Given the description of an element on the screen output the (x, y) to click on. 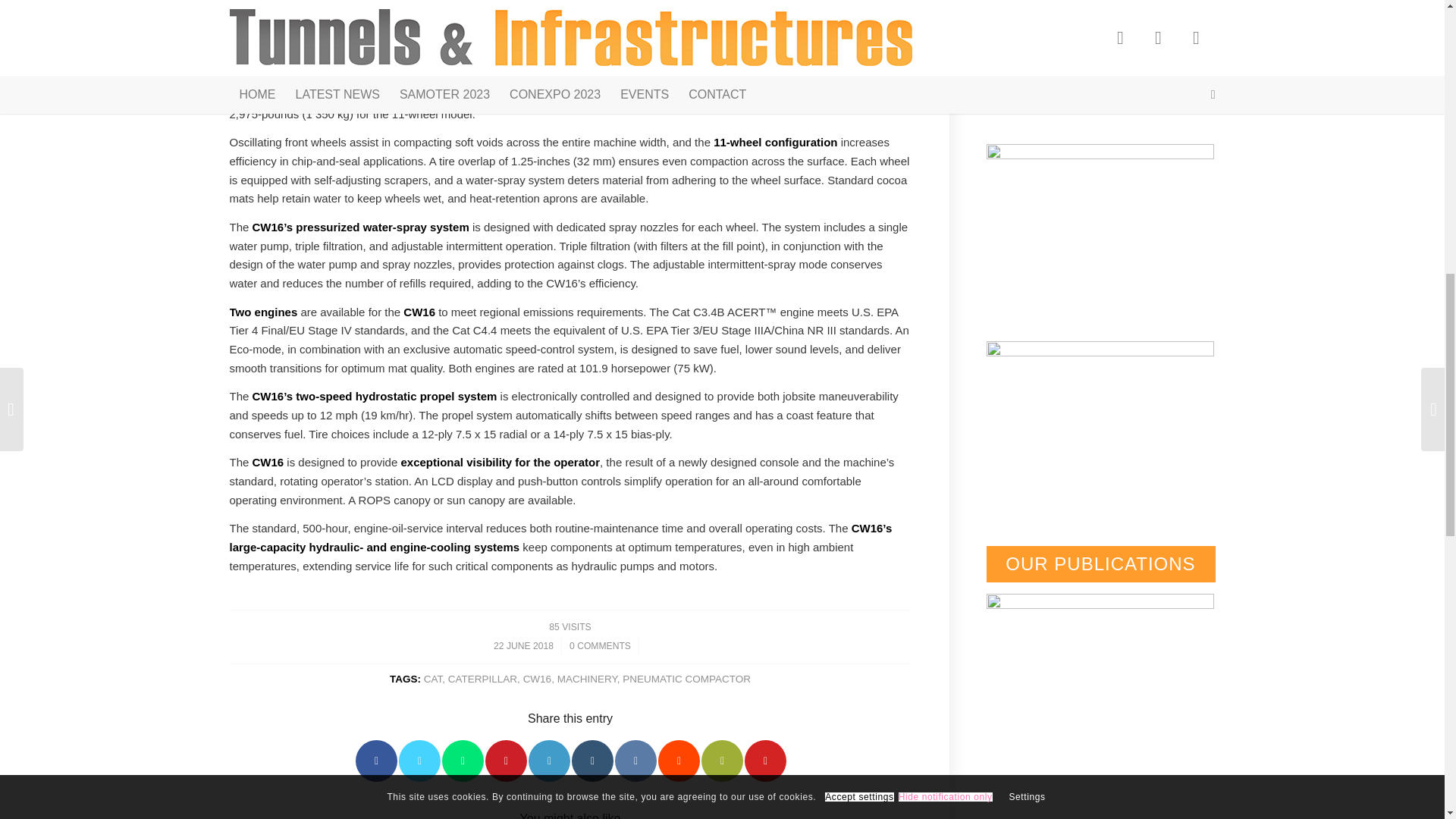
CW16 (536, 678)
PNEUMATIC COMPACTOR (687, 678)
MACHINERY (587, 678)
CATERPILLAR (482, 678)
0 COMMENTS (599, 645)
CAT (432, 678)
